Given the description of an element on the screen output the (x, y) to click on. 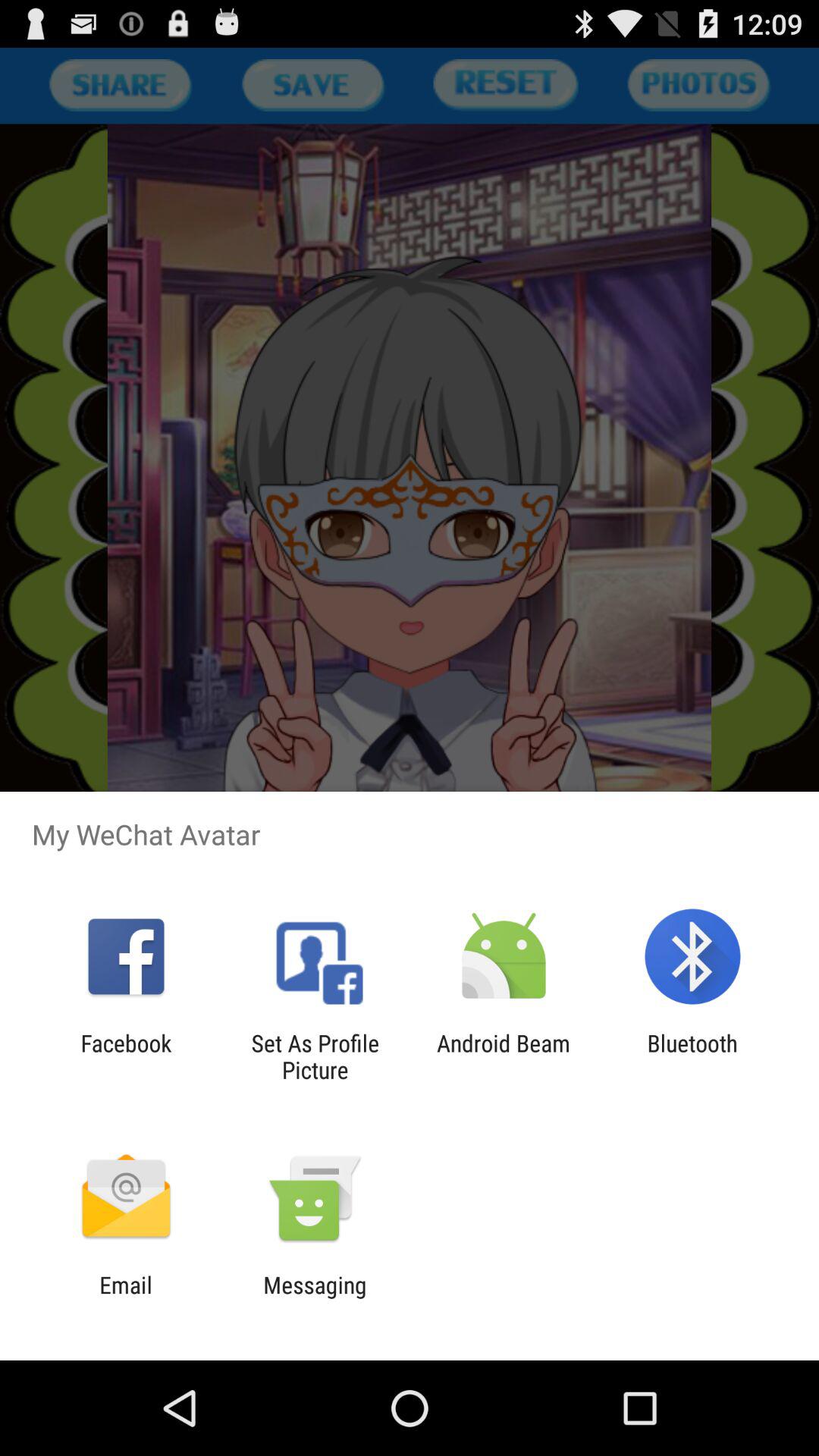
choose item next to set as profile item (503, 1056)
